Given the description of an element on the screen output the (x, y) to click on. 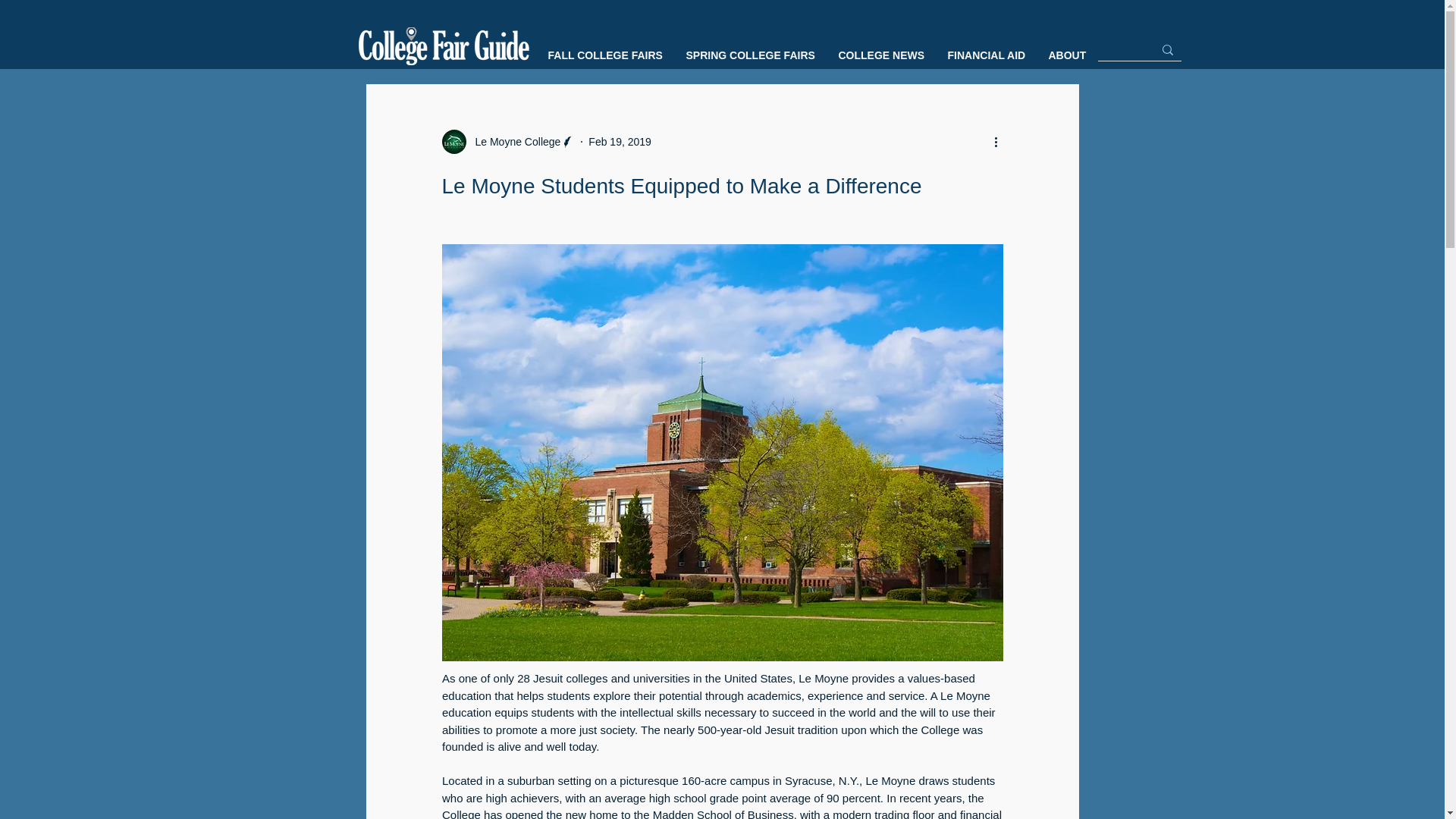
Le Moyne College (512, 141)
Feb 19, 2019 (619, 141)
